Given the description of an element on the screen output the (x, y) to click on. 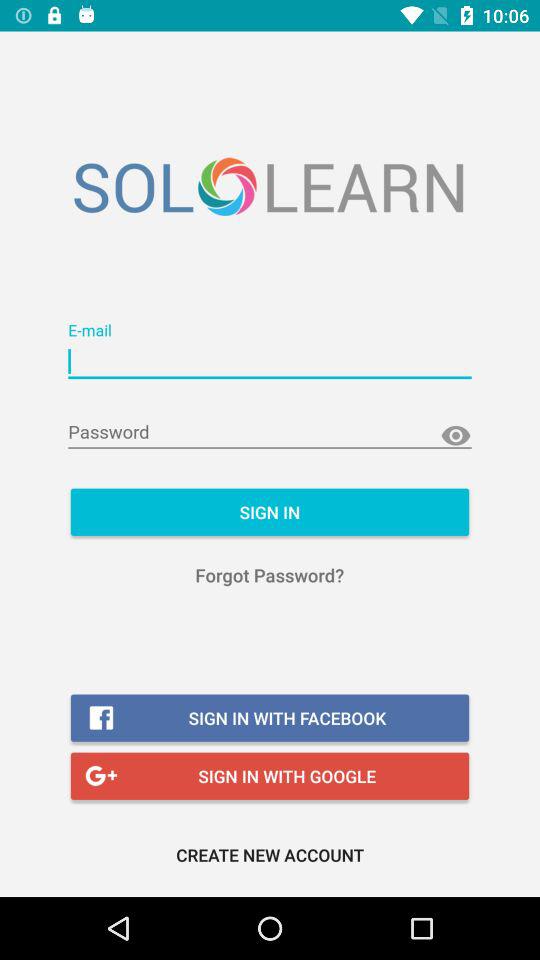
scroll to the create new account (269, 854)
